Given the description of an element on the screen output the (x, y) to click on. 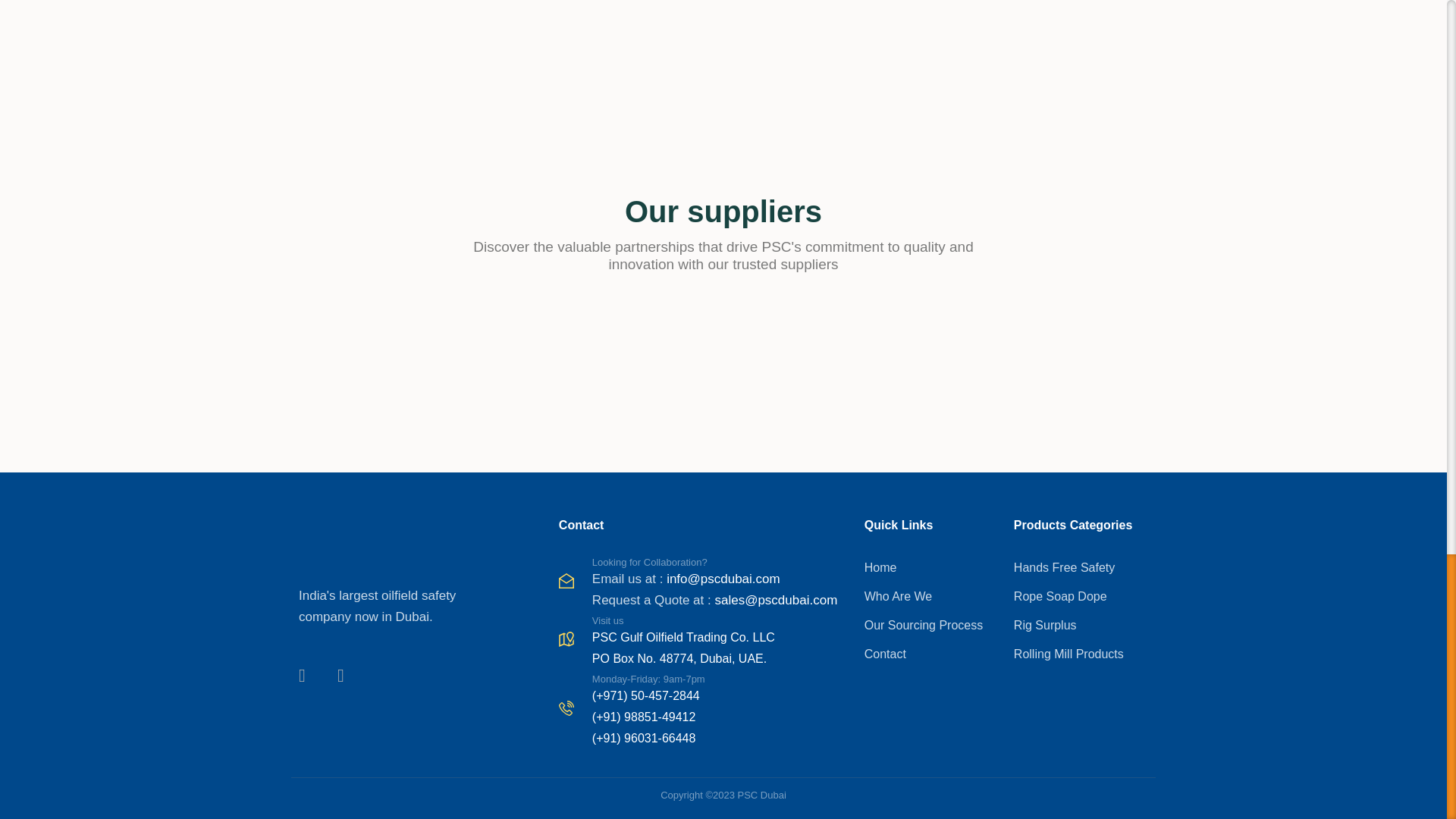
Rolling Mill Products (1080, 654)
Rig Surplus (1080, 625)
Hands Free Safety (1080, 567)
Rope Soap Dope (1080, 596)
Our Sourcing Process (931, 625)
Home (931, 567)
Contact (931, 654)
Who Are We (931, 596)
